Given the description of an element on the screen output the (x, y) to click on. 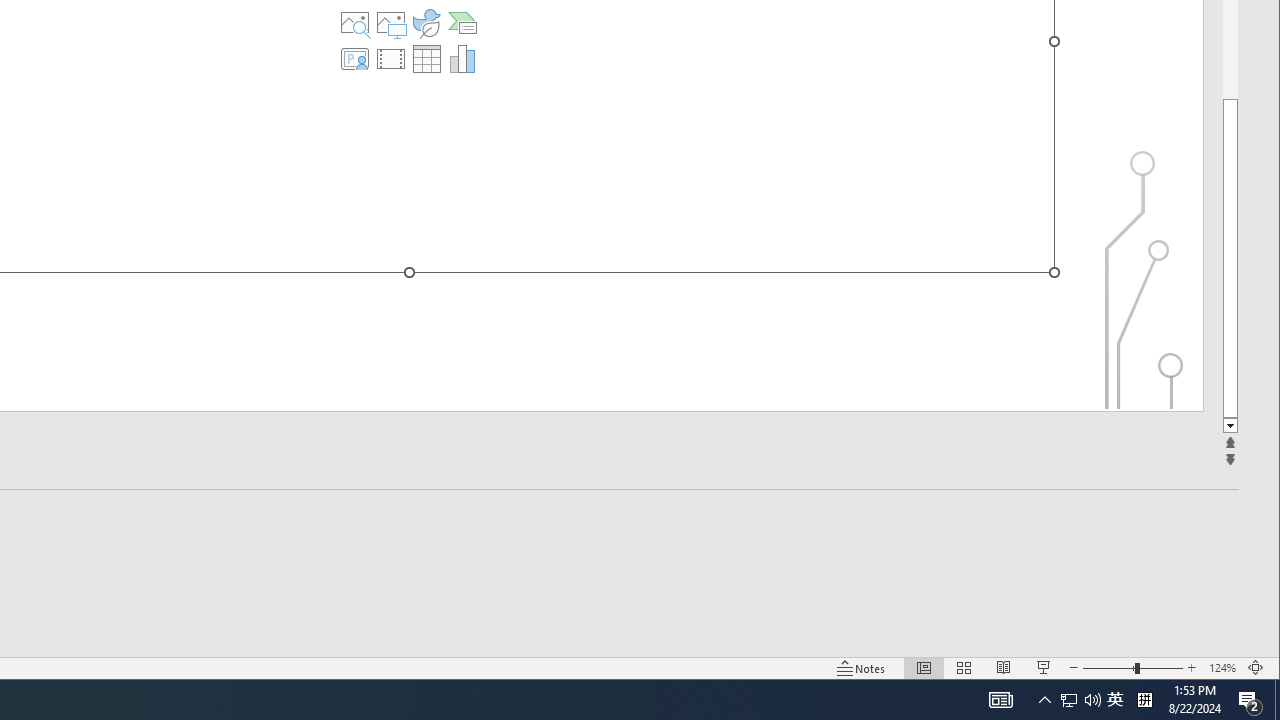
Insert Cameo (355, 58)
Insert Chart (462, 58)
Stock Images (355, 22)
Insert an Icon (426, 22)
Insert Table (426, 58)
Insert Video (391, 58)
